Given the description of an element on the screen output the (x, y) to click on. 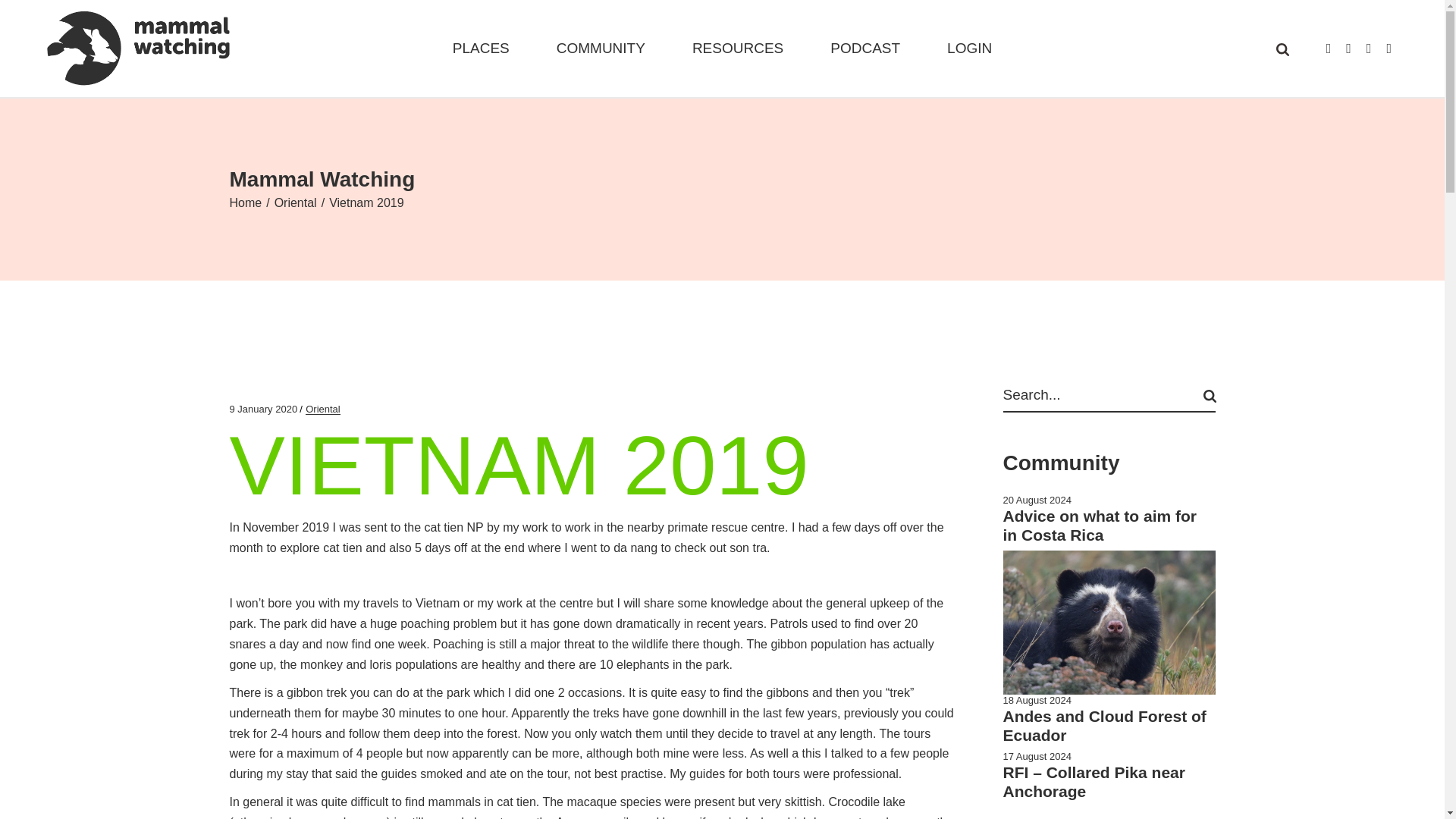
Title Text:  (262, 409)
COMMUNITY (600, 48)
RESOURCES (738, 48)
